Given the description of an element on the screen output the (x, y) to click on. 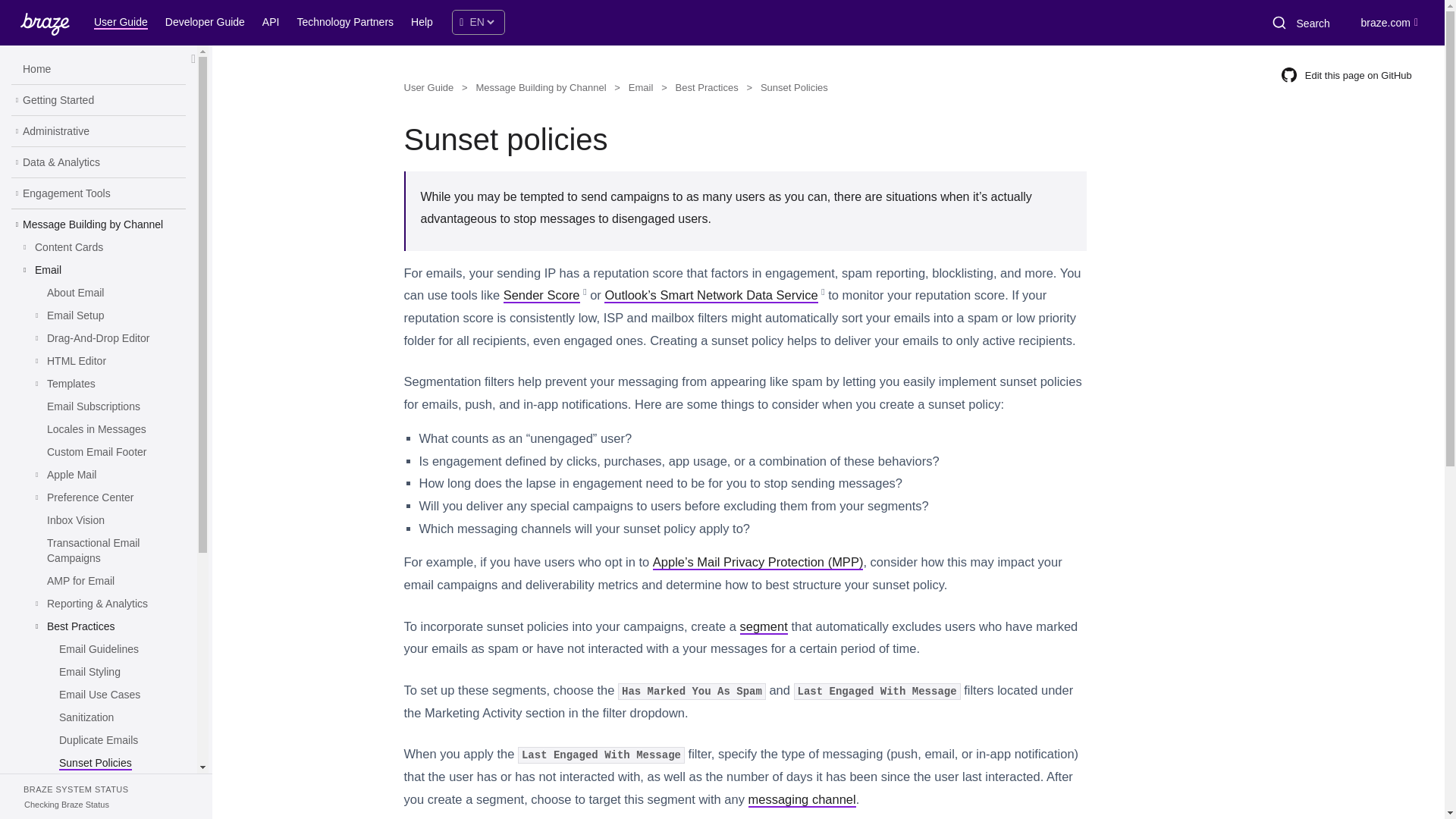
Getting Started (58, 100)
Home (36, 69)
Outlook's Smart Network Data Service (710, 295)
Administrative (55, 131)
User Guide (122, 24)
API (273, 24)
Developer Guide (207, 24)
Help (424, 24)
Submit (1277, 23)
Sender Score (541, 295)
